Given the description of an element on the screen output the (x, y) to click on. 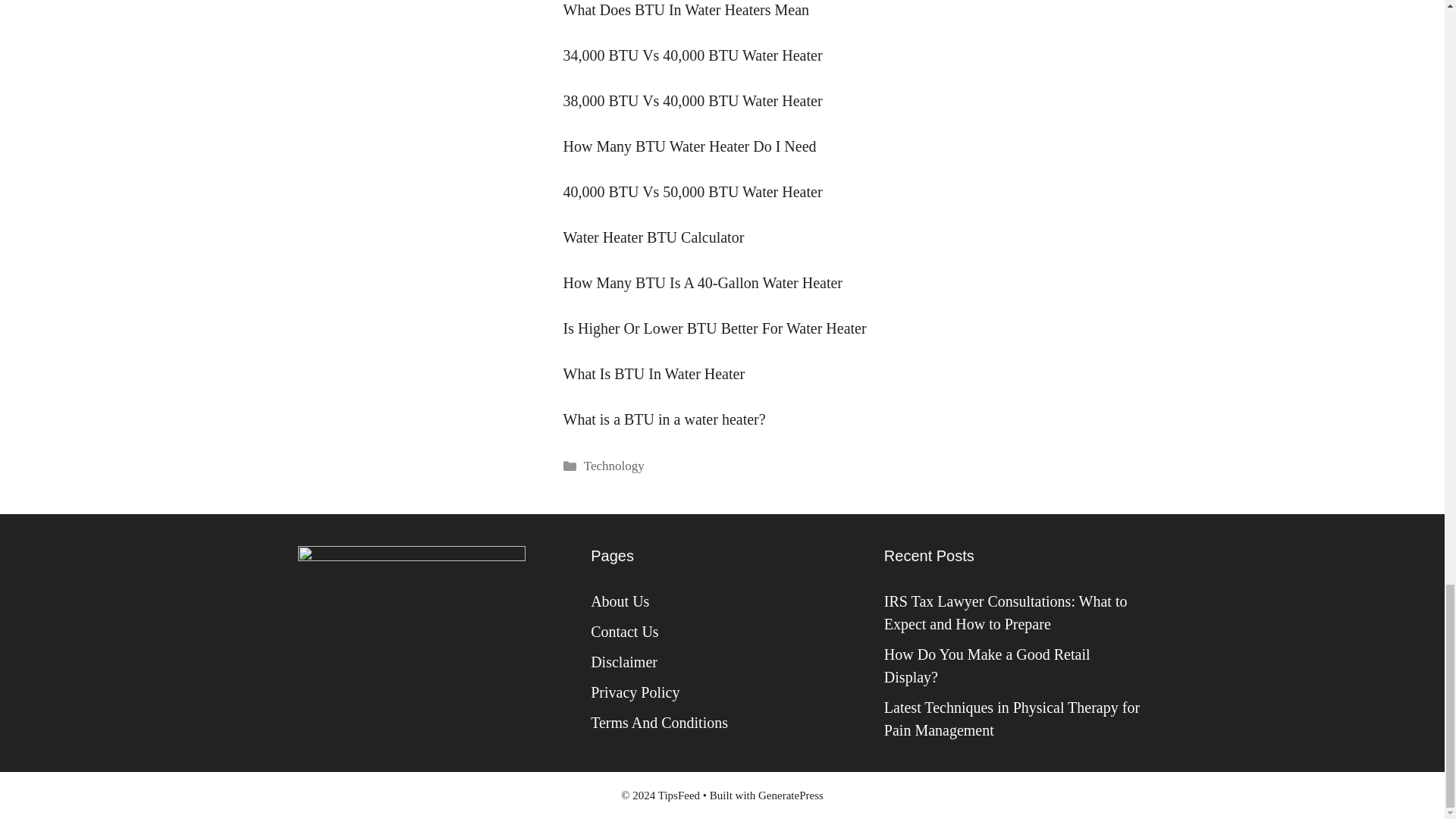
Disclaimer (624, 661)
Terms And Conditions (659, 722)
How Do You Make a Good Retail Display? (986, 665)
Technology (614, 465)
Contact Us (624, 631)
Privacy Policy (635, 692)
About Us (620, 600)
